Given the description of an element on the screen output the (x, y) to click on. 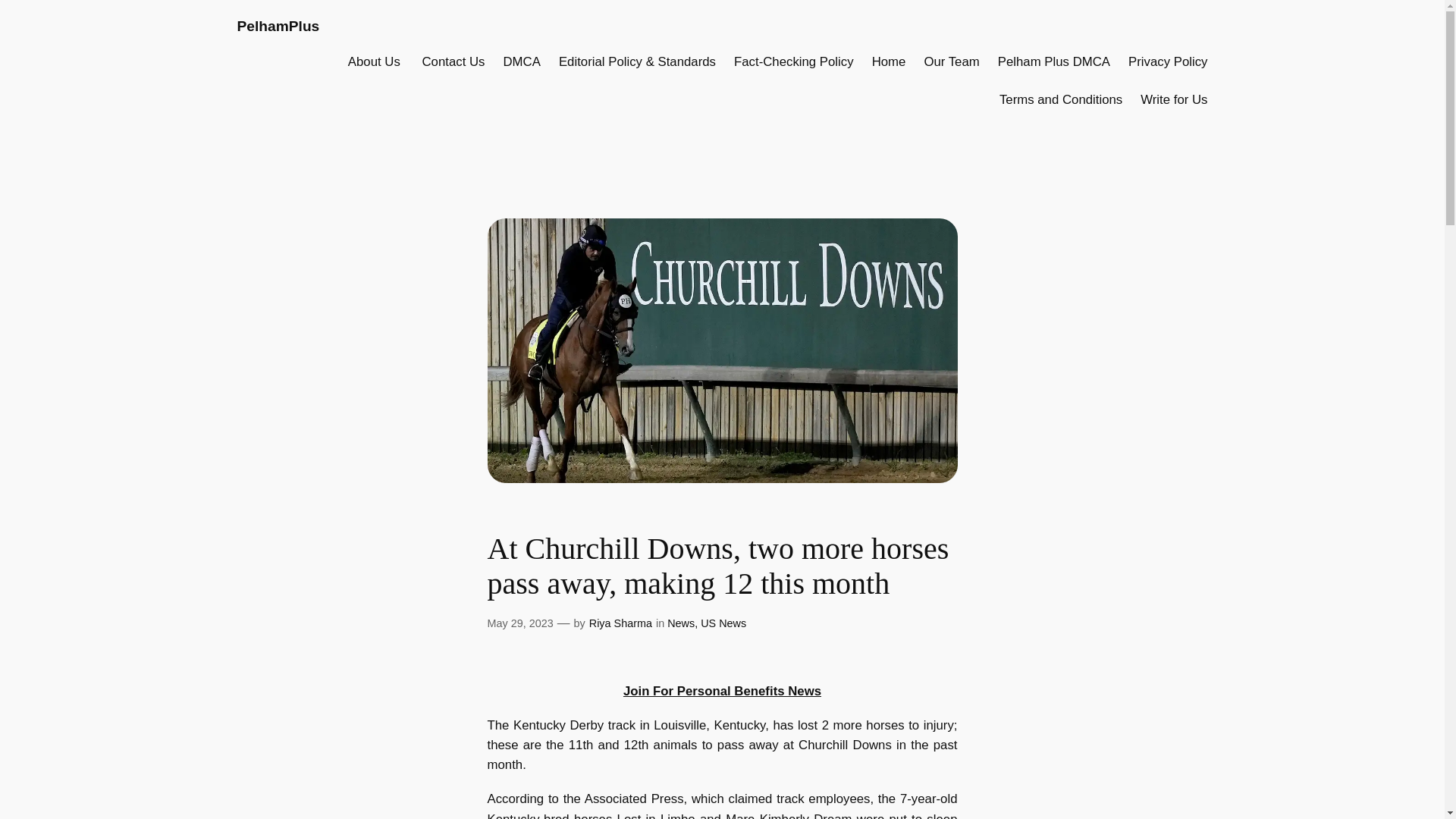
Riya Sharma (620, 623)
Contact Us (453, 62)
Pelham Plus DMCA (1053, 62)
Fact-Checking Policy (793, 62)
PelhamPlus (276, 26)
Home (888, 62)
Privacy Policy (1167, 62)
DMCA (521, 62)
May 29, 2023 (519, 623)
News (680, 623)
